Given the description of an element on the screen output the (x, y) to click on. 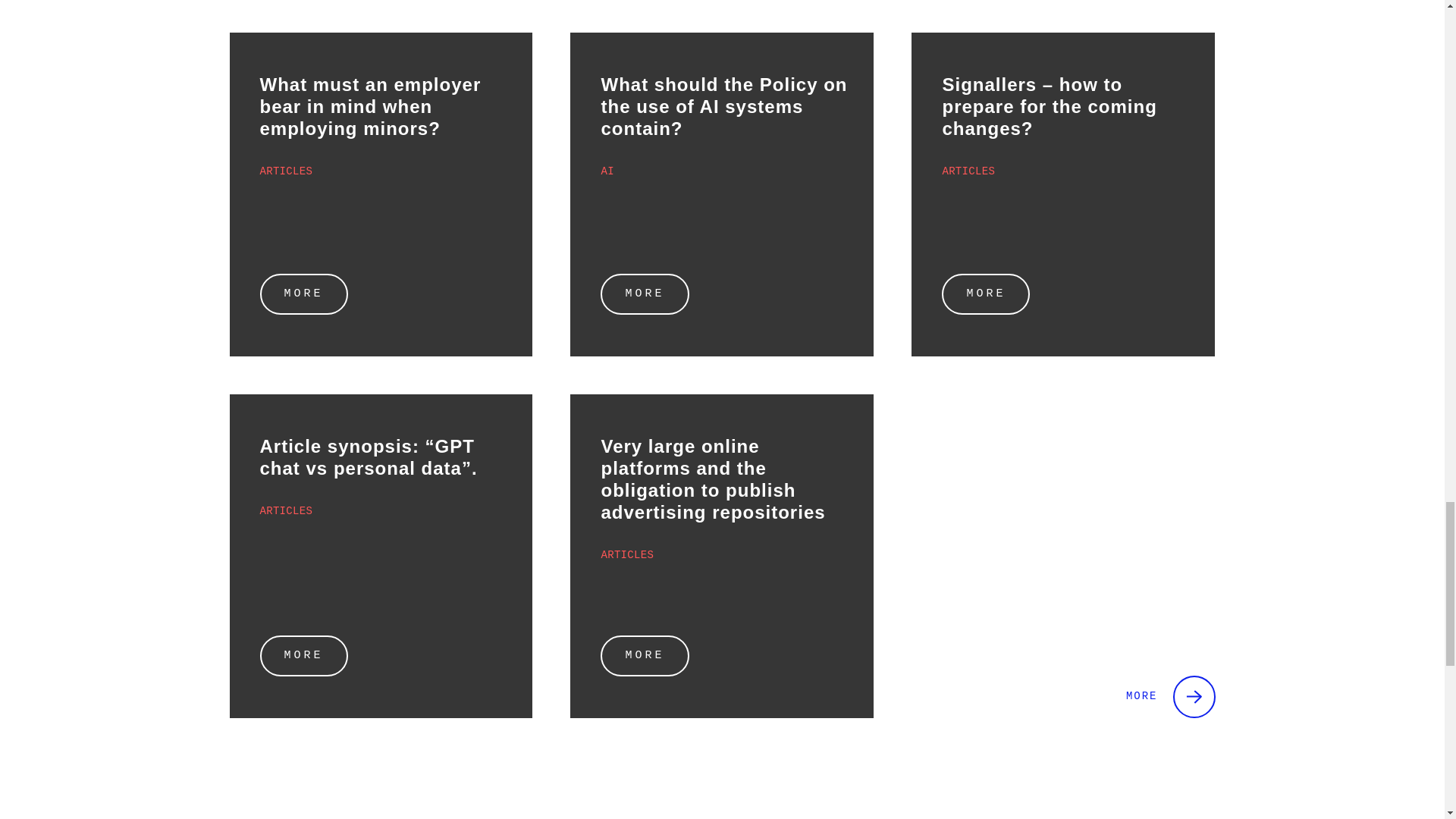
ARTICLES (286, 171)
ARTICLES (286, 510)
ARTICLES (968, 171)
What must an employer bear in mind when employing minors? (380, 194)
What should the Policy on the use of AI systems contain? (721, 194)
AI (605, 171)
ARTICLES (626, 554)
